Given the description of an element on the screen output the (x, y) to click on. 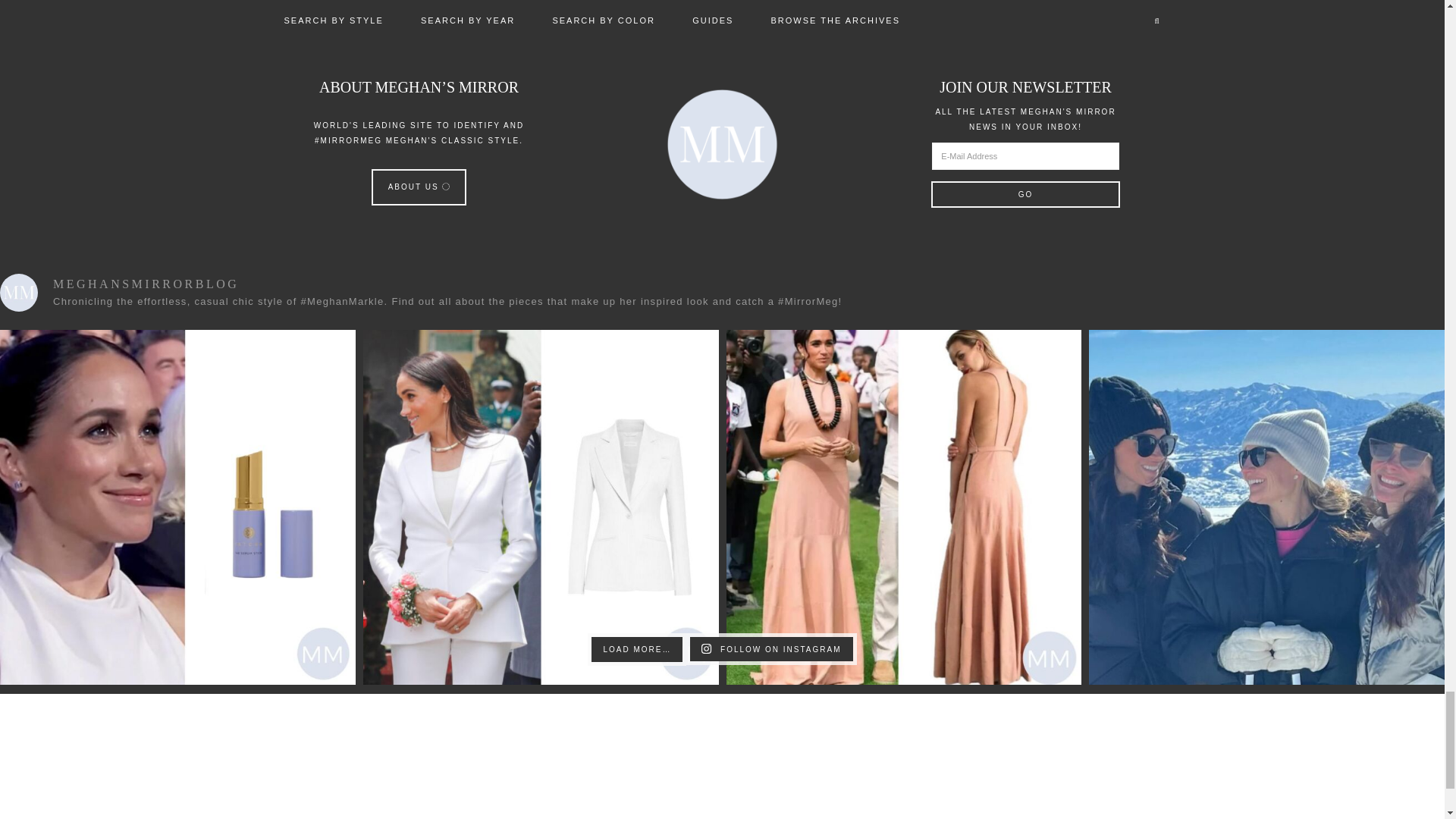
Go (1024, 194)
